Given the description of an element on the screen output the (x, y) to click on. 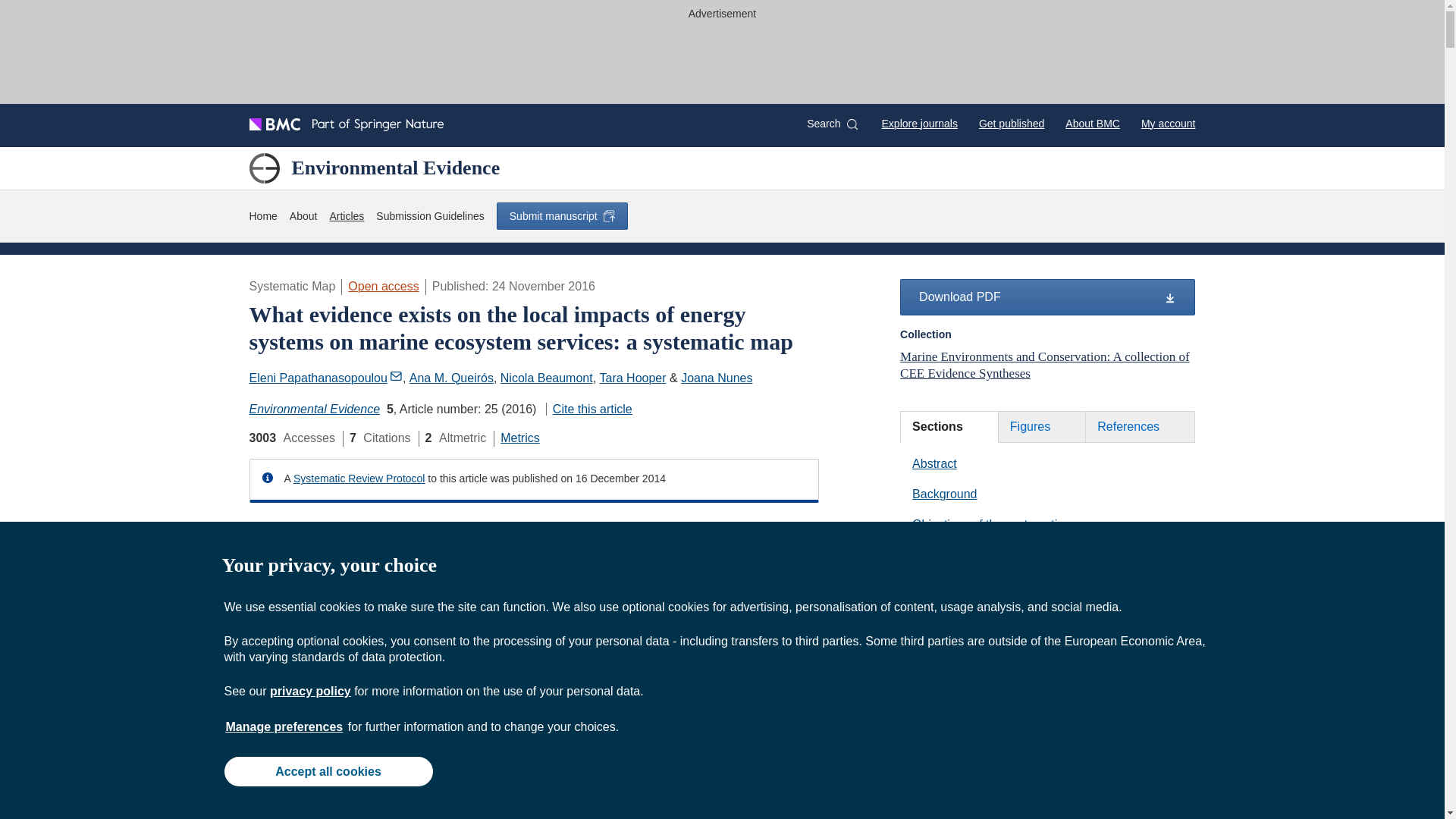
Eleni Papathanasopoulou (324, 377)
Search (831, 123)
Open access (383, 286)
Get published (1010, 123)
Metrics (520, 437)
Accept all cookies (328, 771)
Nicola Beaumont (546, 377)
Tara Hooper (632, 377)
Joana Nunes (716, 377)
My account (1168, 123)
